Given the description of an element on the screen output the (x, y) to click on. 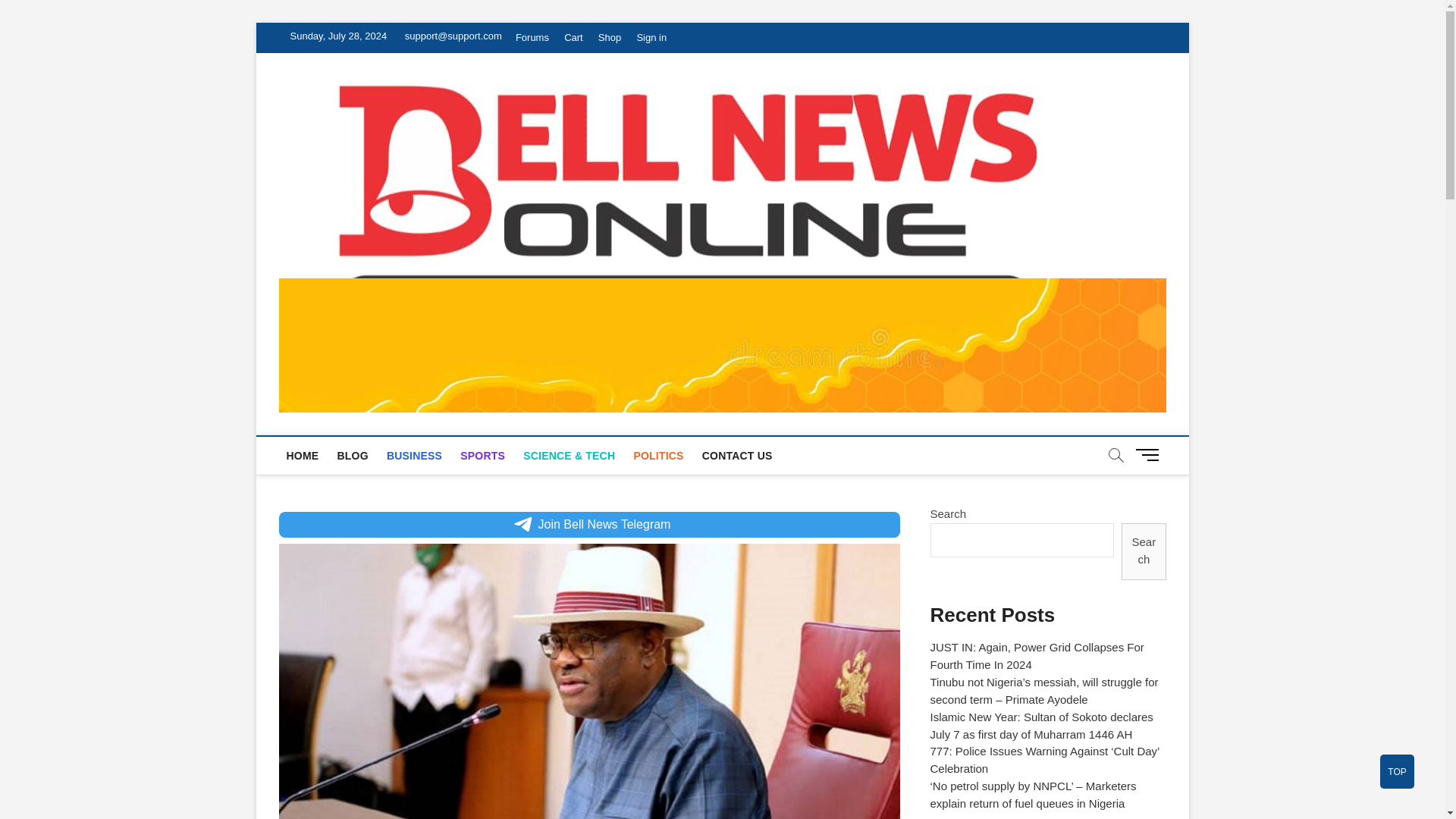
Sign in (651, 37)
BUSINESS (413, 455)
SPORTS (482, 455)
CONTACT US (737, 455)
Forums (531, 37)
Menu Button (1150, 454)
Bell News (1137, 119)
Bell News (1137, 119)
BLOG (352, 455)
POLITICS (658, 455)
Cart (573, 37)
HOME (302, 455)
Shop (609, 37)
Mail Us (449, 35)
